Given the description of an element on the screen output the (x, y) to click on. 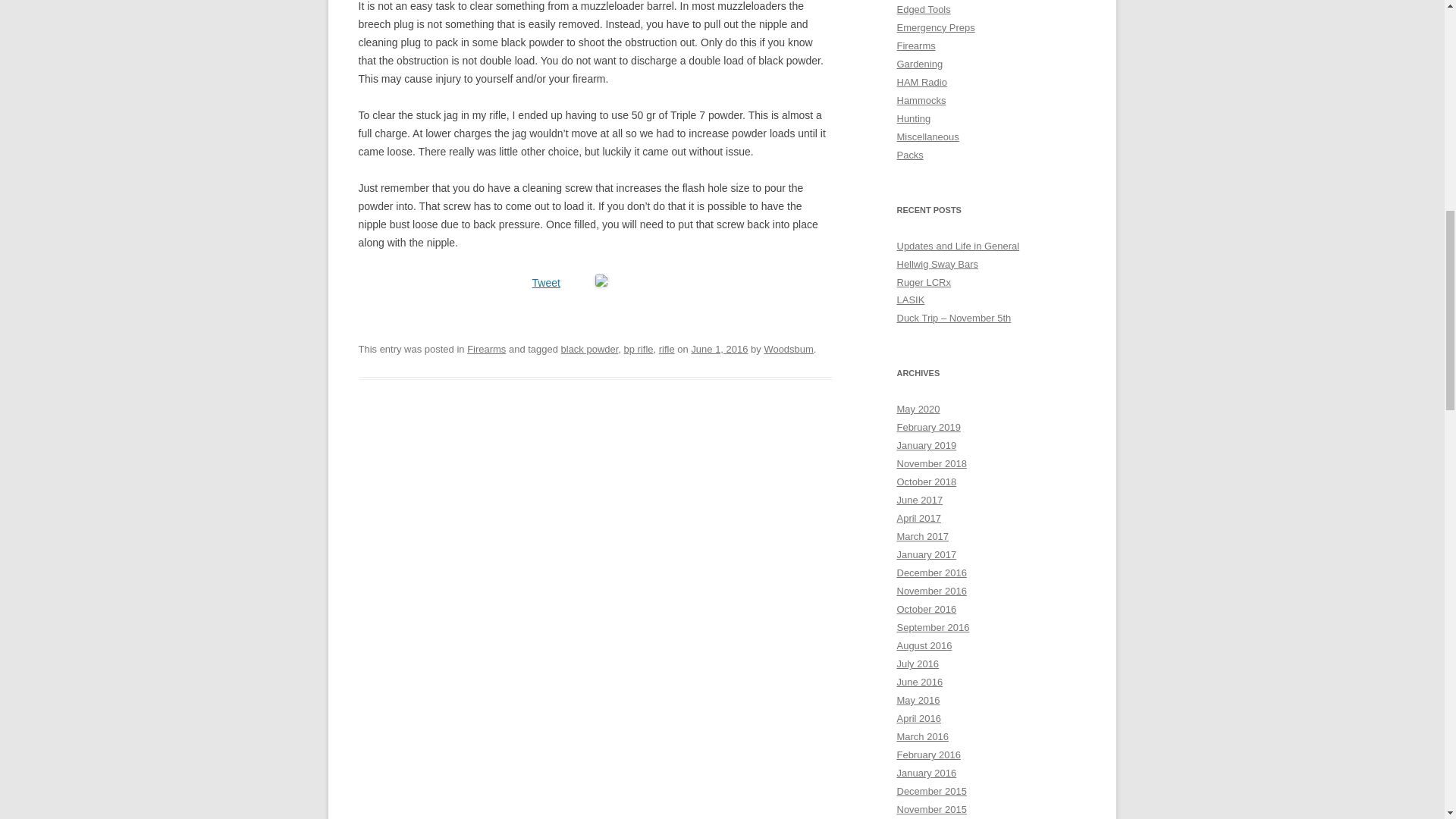
Packs (909, 154)
Share on Tumblr (672, 281)
Firearms (915, 45)
Miscellaneous (927, 136)
Share on Tumblr (672, 281)
June 1, 2016 (719, 348)
Updates and Life in General (957, 245)
LASIK (910, 299)
Emergency Preps (935, 27)
HAM Radio (921, 81)
Hammocks (920, 100)
3:39 pm (719, 348)
Firearms (486, 348)
Edged Tools (923, 9)
